Given the description of an element on the screen output the (x, y) to click on. 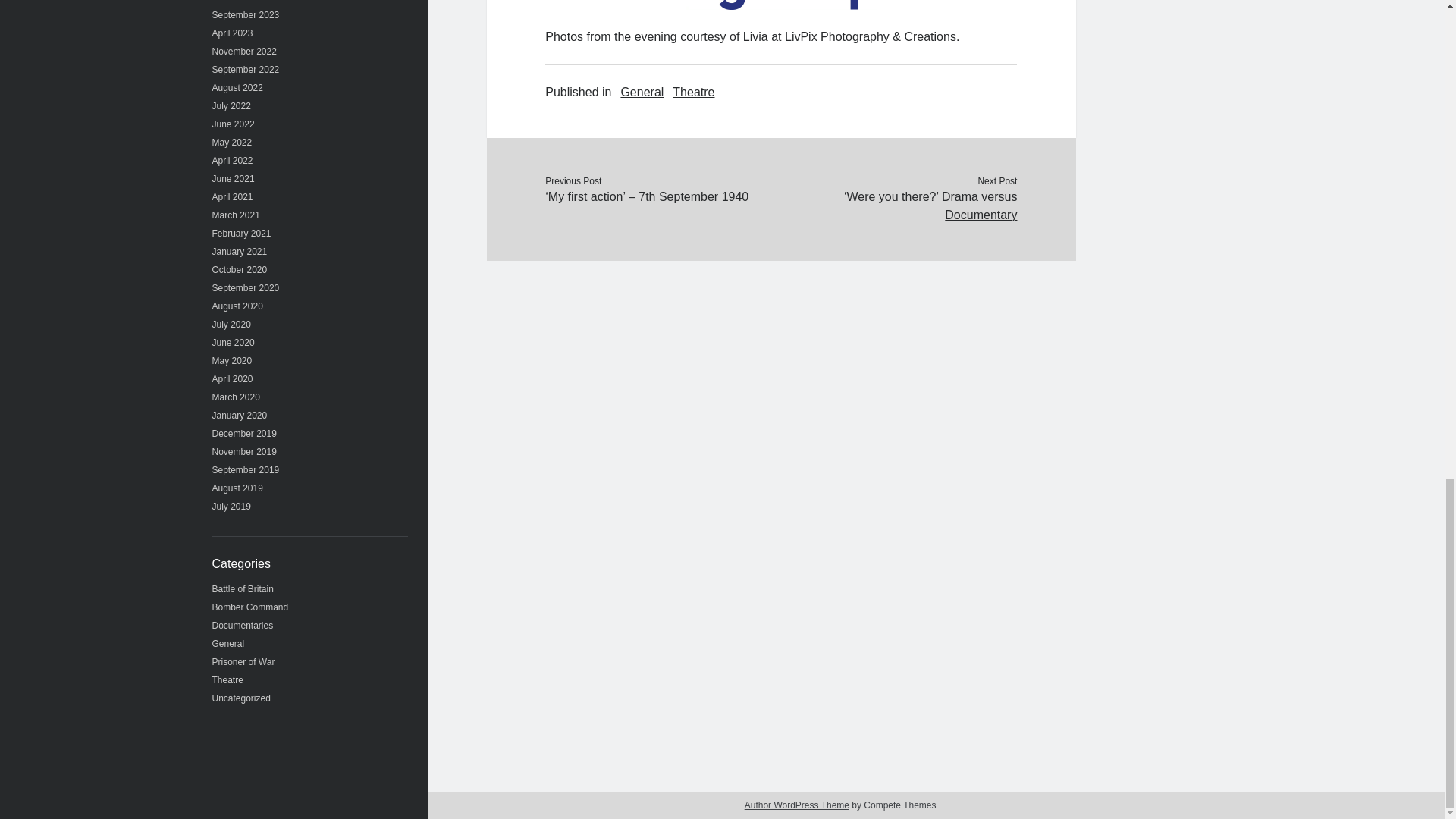
View all posts in Theatre (693, 92)
View all posts in General (641, 92)
